Given the description of an element on the screen output the (x, y) to click on. 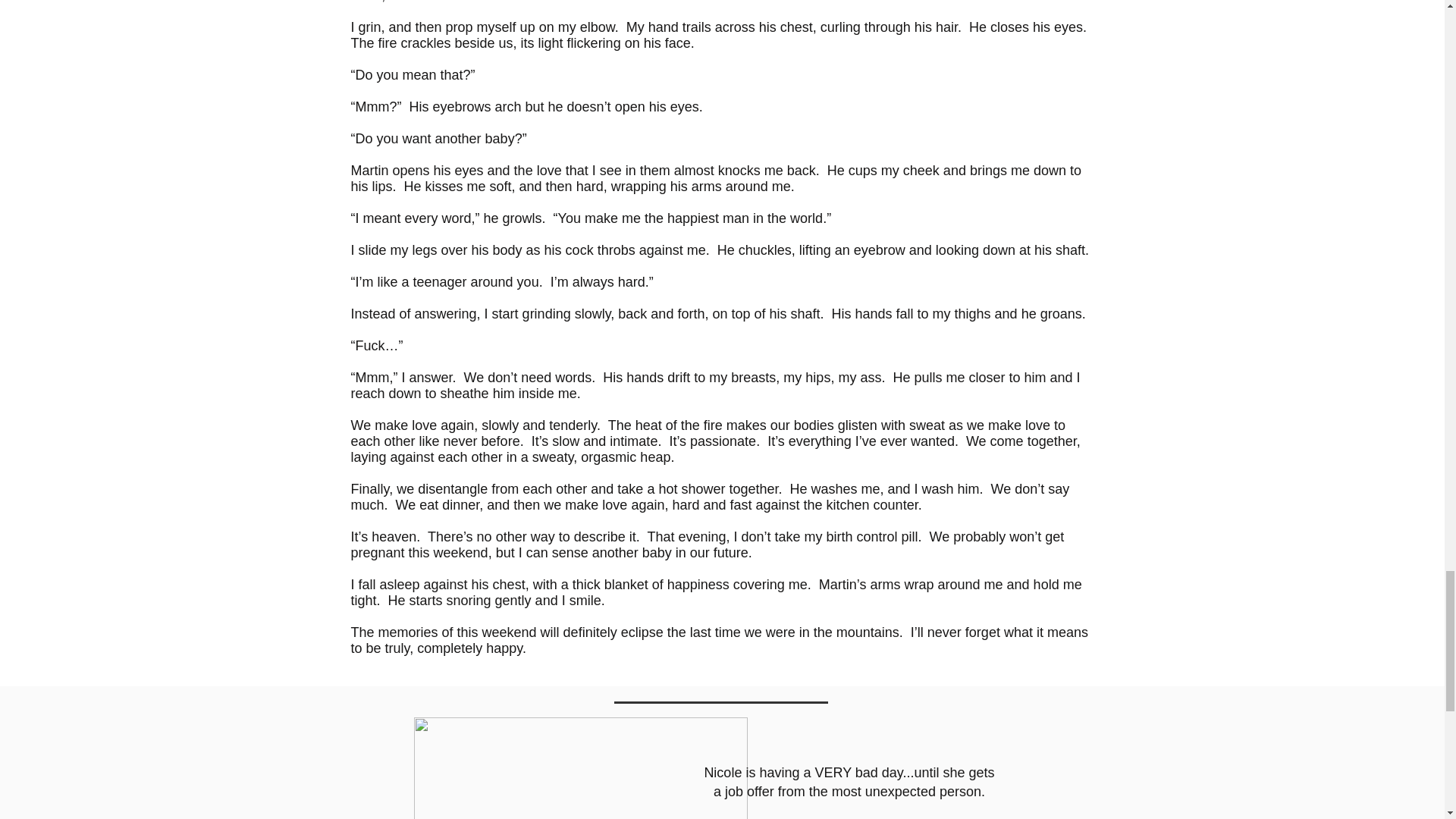
LAFS ereader and pb.png (580, 768)
